Given the description of an element on the screen output the (x, y) to click on. 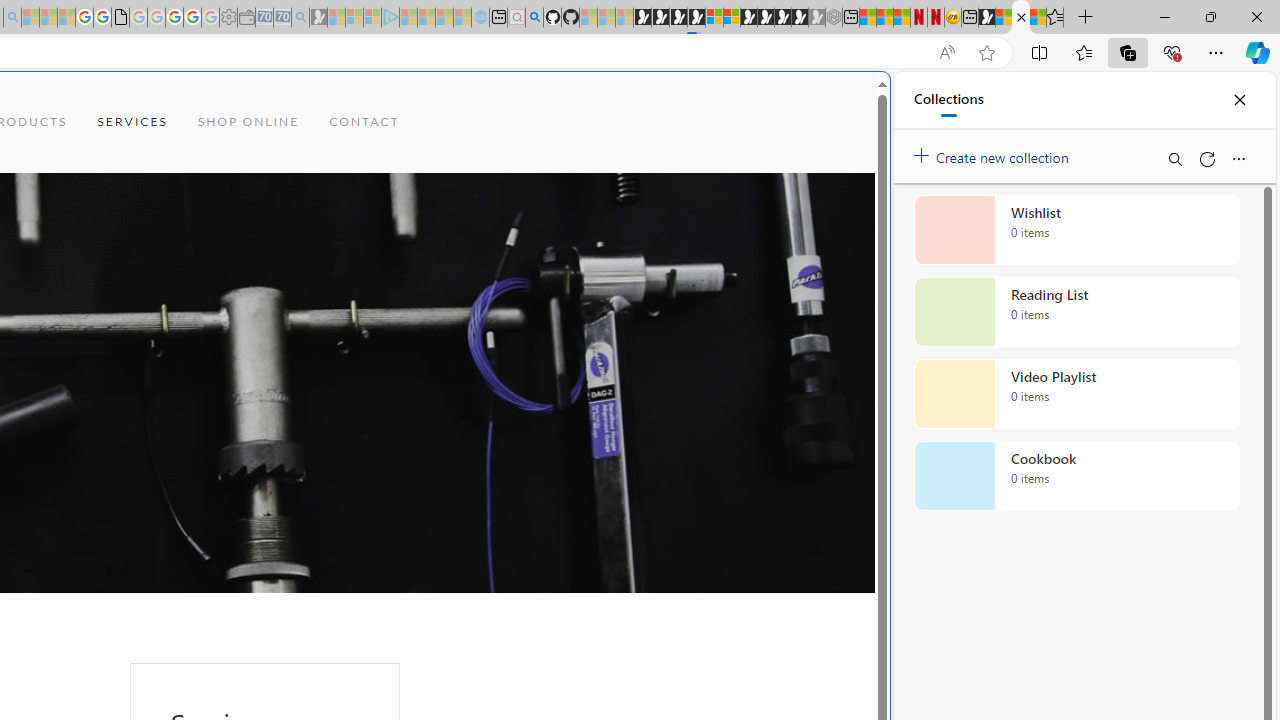
Sign in to your account (714, 17)
Tabs you've opened (276, 265)
World - MSN (1003, 17)
Frequently visited (418, 265)
Close split screen (844, 102)
Settings and more (Alt+F) (1215, 52)
